Given the description of an element on the screen output the (x, y) to click on. 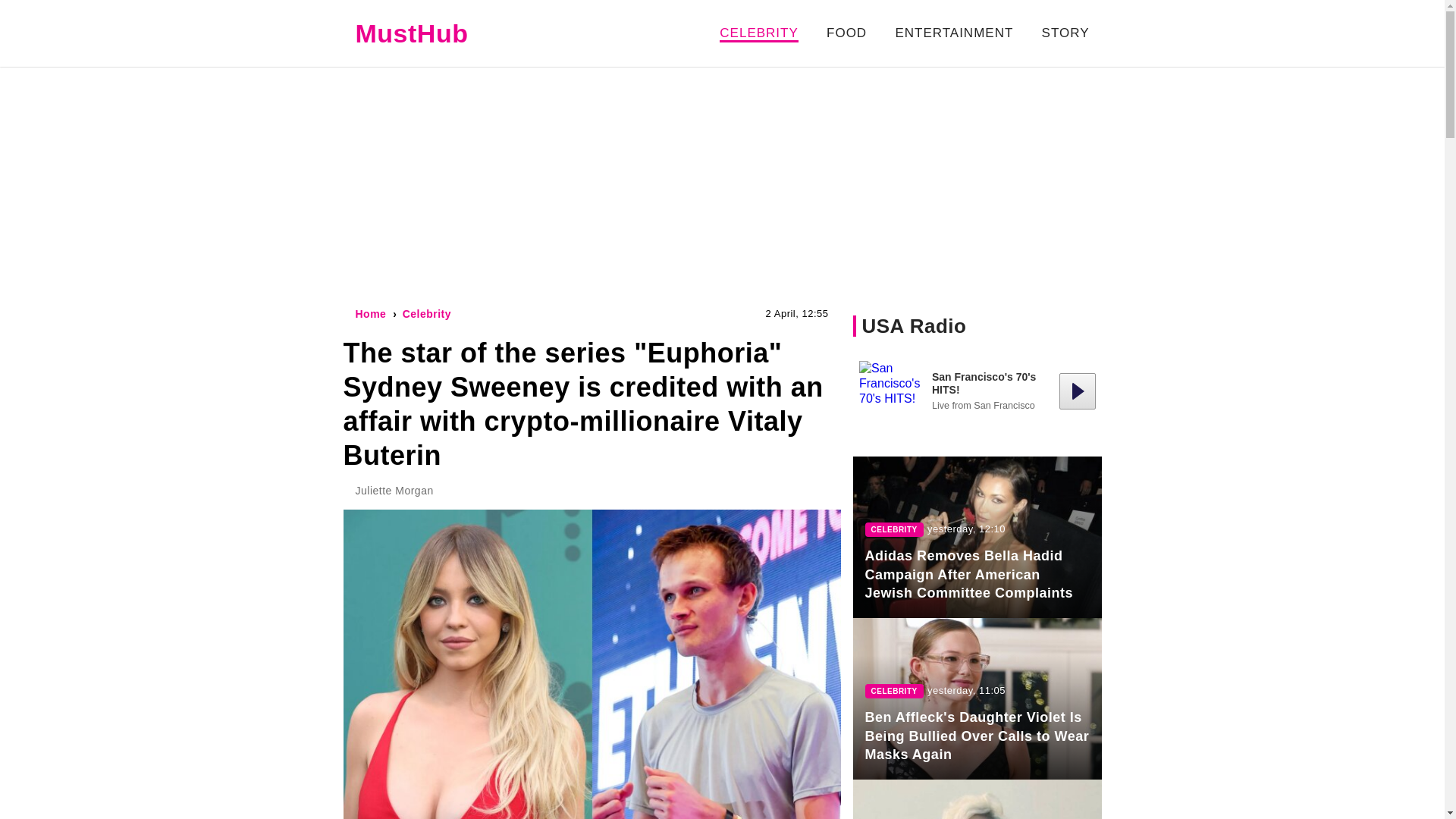
CELEBRITY (758, 33)
Kim Kardashian dressed up as Marilyn Monroe for Balenciaga (975, 799)
MustHub - Entertainment News, Celebrity News, Lifestyle Tips (411, 33)
Home (370, 313)
MustHub (411, 33)
Celebrity (427, 313)
ENTERTAINMENT (954, 32)
USA Radio (913, 325)
STORY (1065, 32)
